Given the description of an element on the screen output the (x, y) to click on. 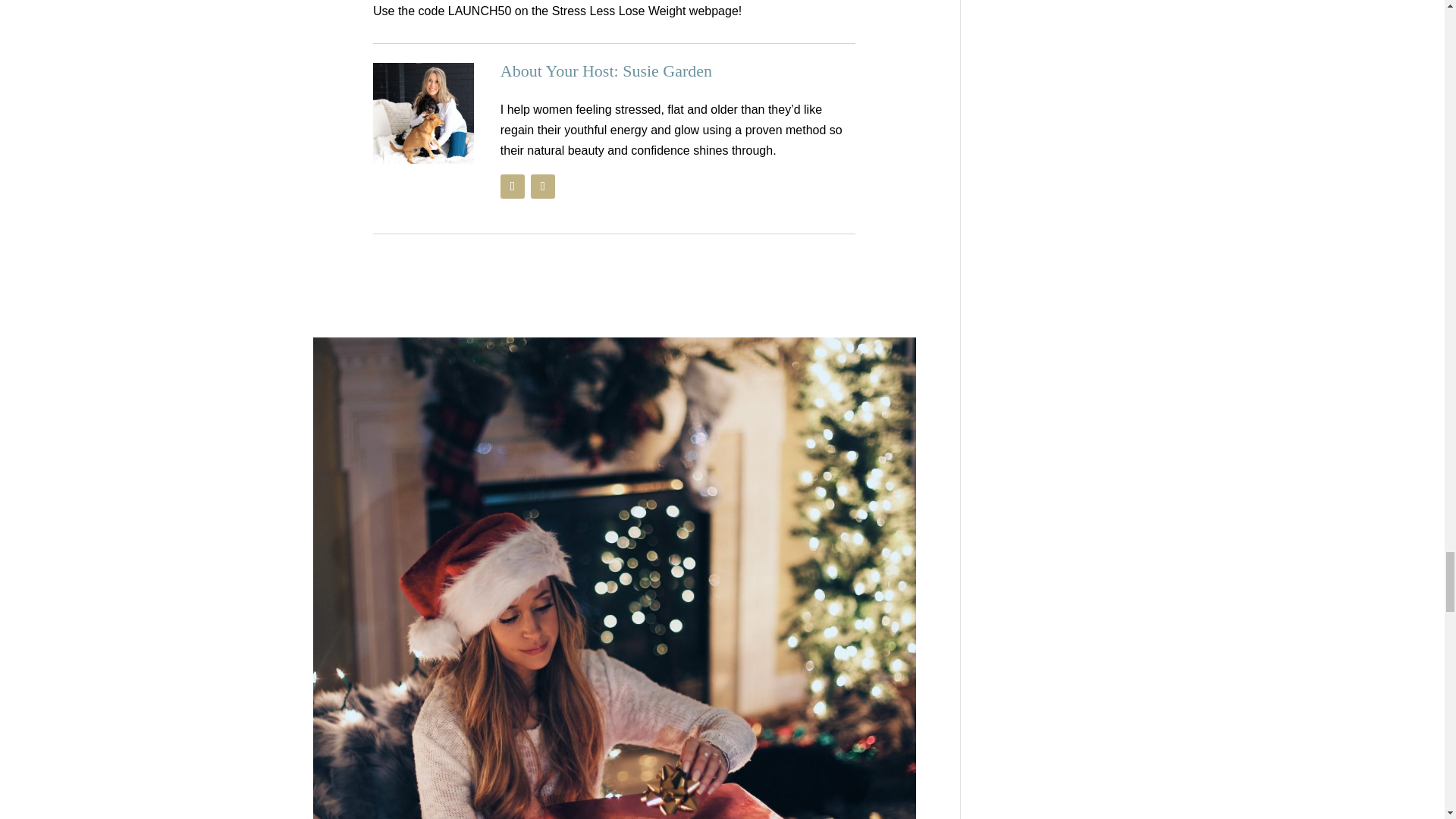
Follow on Facebook (512, 186)
Susie Garden Author (423, 113)
